Given the description of an element on the screen output the (x, y) to click on. 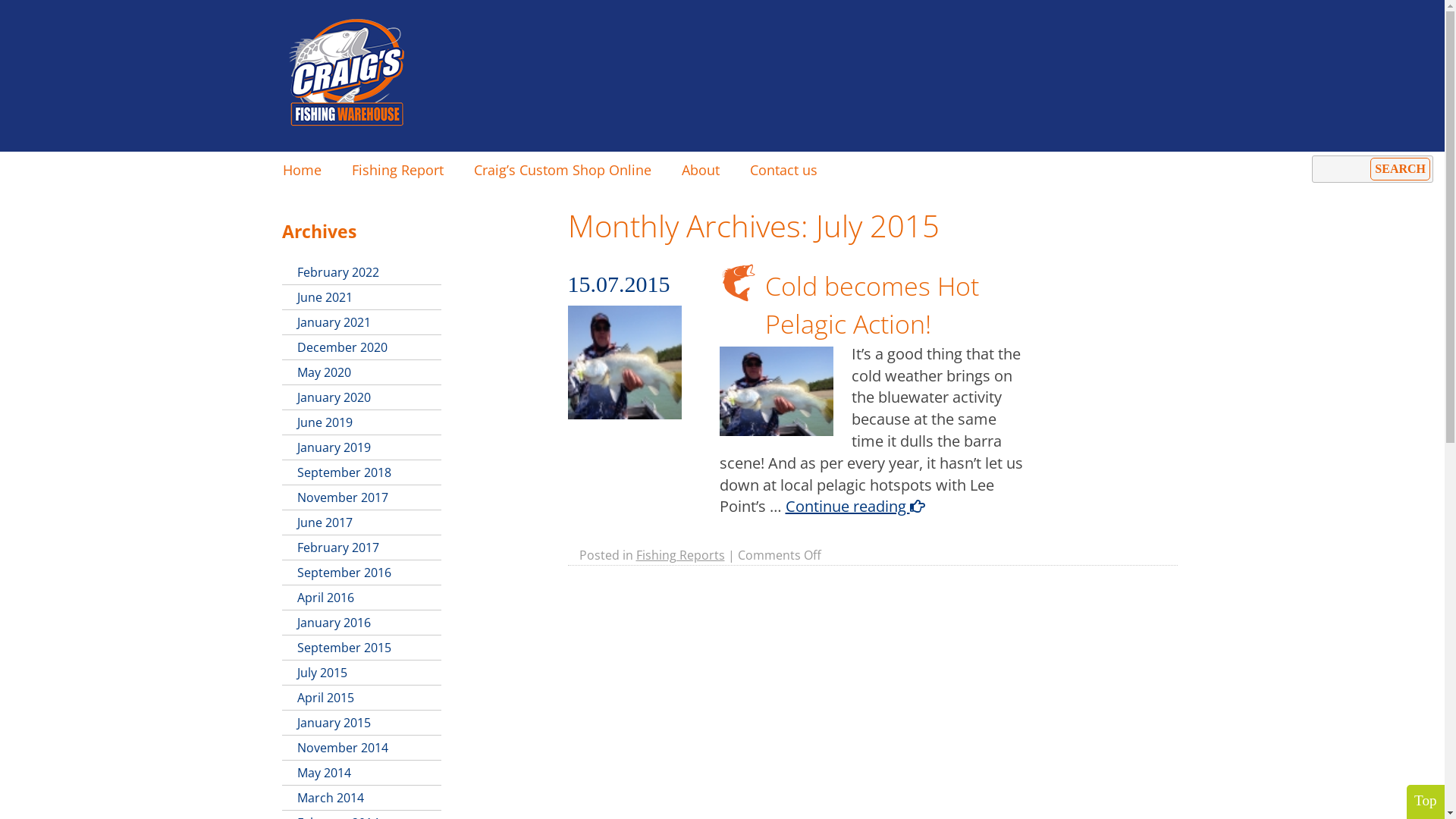
July 2015 Element type: text (361, 672)
Search Element type: text (1400, 168)
January 2019 Element type: text (361, 447)
April 2015 Element type: text (361, 697)
June 2021 Element type: text (361, 297)
January 2021 Element type: text (361, 322)
March 2014 Element type: text (361, 797)
September 2016 Element type: text (361, 572)
January 2015 Element type: text (361, 722)
Fishing Reports Element type: text (679, 554)
November 2014 Element type: text (361, 747)
Continue reading Element type: text (855, 505)
September 2015 Element type: text (361, 647)
December 2020 Element type: text (361, 347)
Fishing Report Element type: text (397, 169)
February 2017 Element type: text (361, 547)
April 2016 Element type: text (361, 597)
May 2014 Element type: text (361, 772)
Cold becomes Hot Pelagic Action! Element type: text (871, 304)
June 2019 Element type: text (361, 422)
Home Element type: text (300, 169)
June 2017 Element type: text (361, 522)
September 2018 Element type: text (361, 472)
January 2020 Element type: text (361, 397)
November 2017 Element type: text (361, 497)
January 2016 Element type: text (361, 622)
May 2020 Element type: text (361, 372)
Top Element type: text (1425, 800)
About Element type: text (699, 169)
15.07.2015 Element type: text (618, 283)
Contact us Element type: text (782, 169)
February 2022 Element type: text (361, 272)
